Given the description of an element on the screen output the (x, y) to click on. 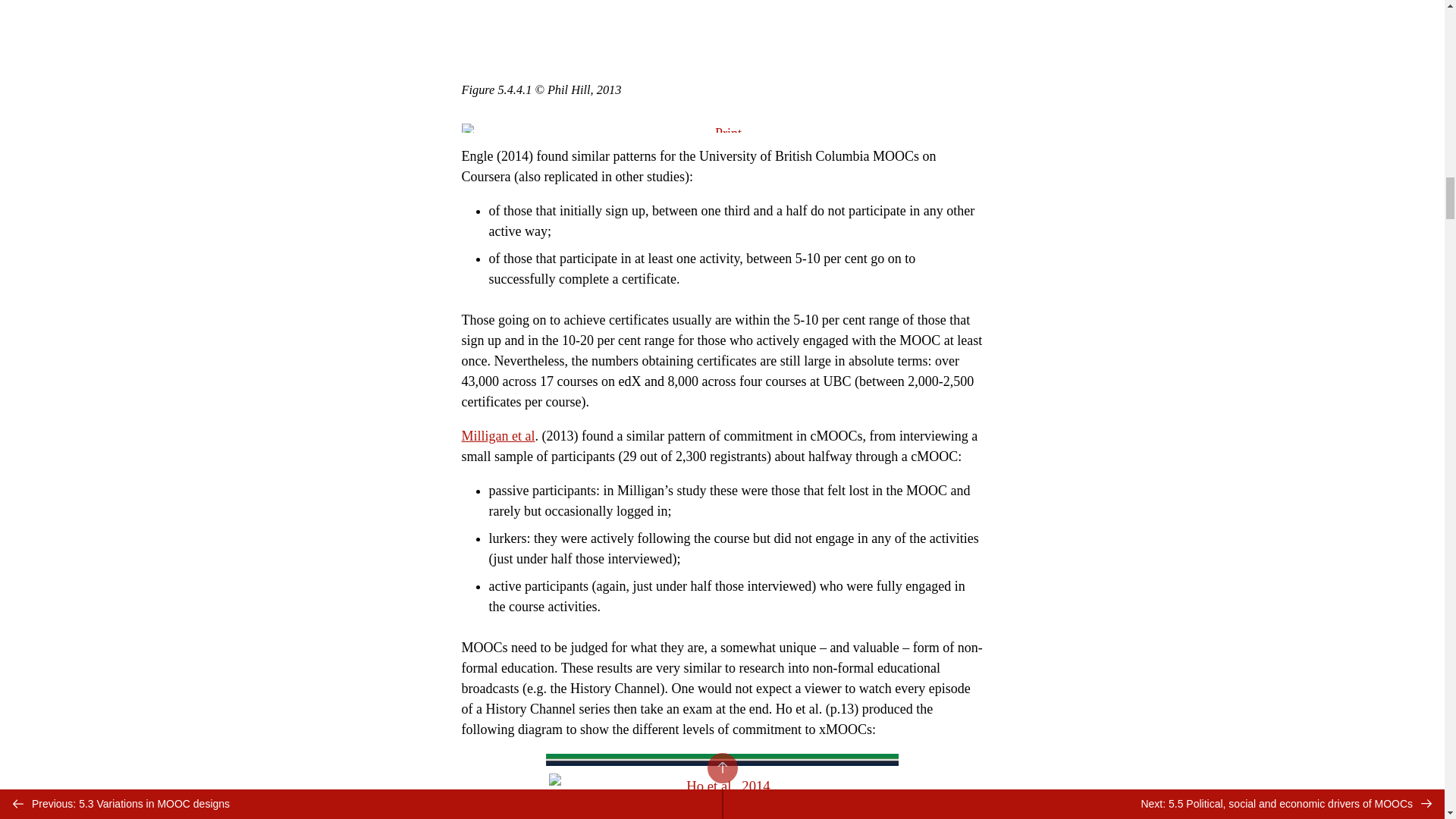
Milligan et al (497, 435)
